Given the description of an element on the screen output the (x, y) to click on. 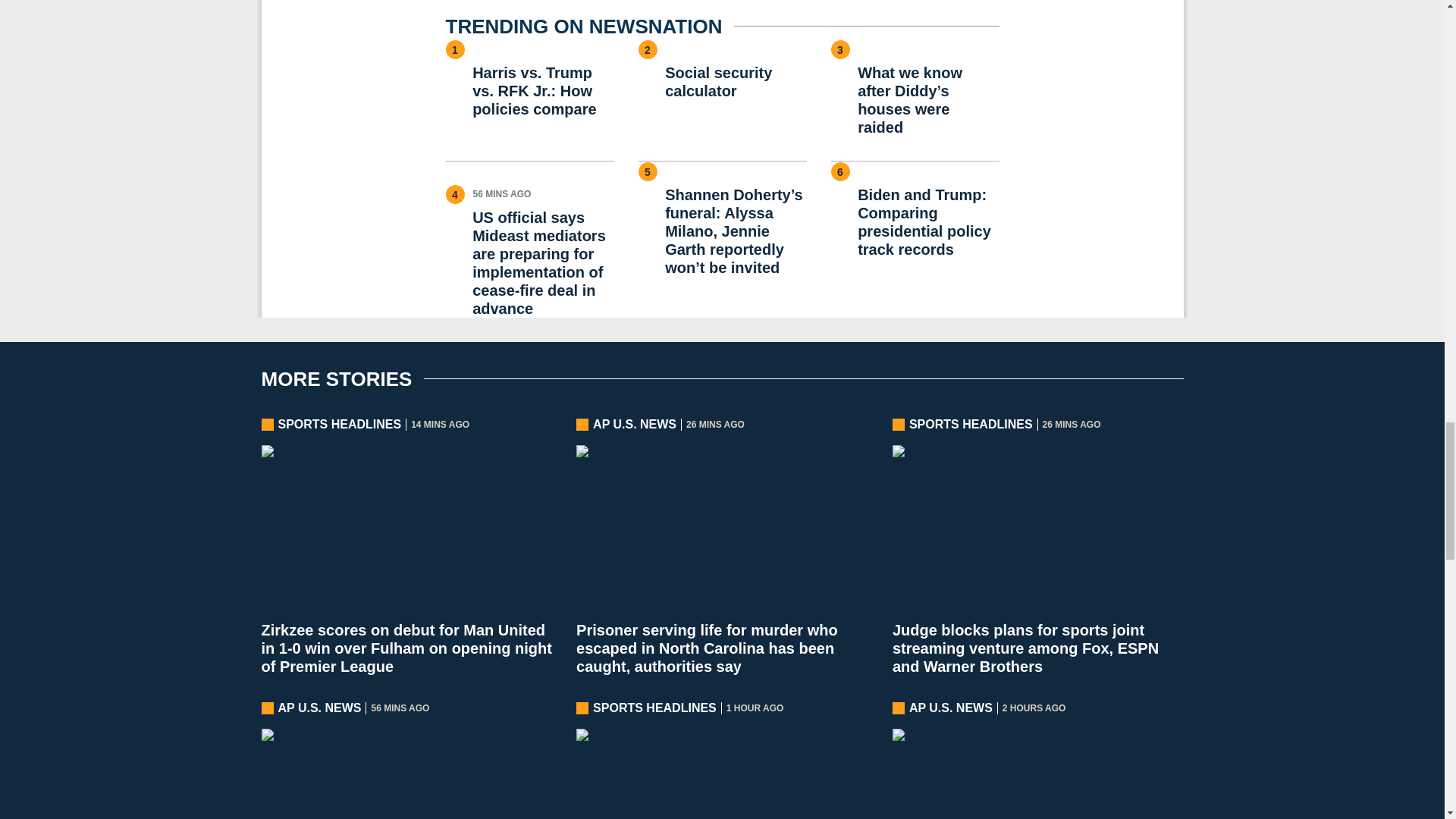
AP U.S. NEWS (319, 708)
SPORTS HEADLINES (339, 424)
AP U.S. NEWS (634, 424)
Harris vs. Trump vs. RFK Jr.: How policies compare (541, 90)
Social security calculator (735, 81)
SPORTS HEADLINES (970, 424)
